Given the description of an element on the screen output the (x, y) to click on. 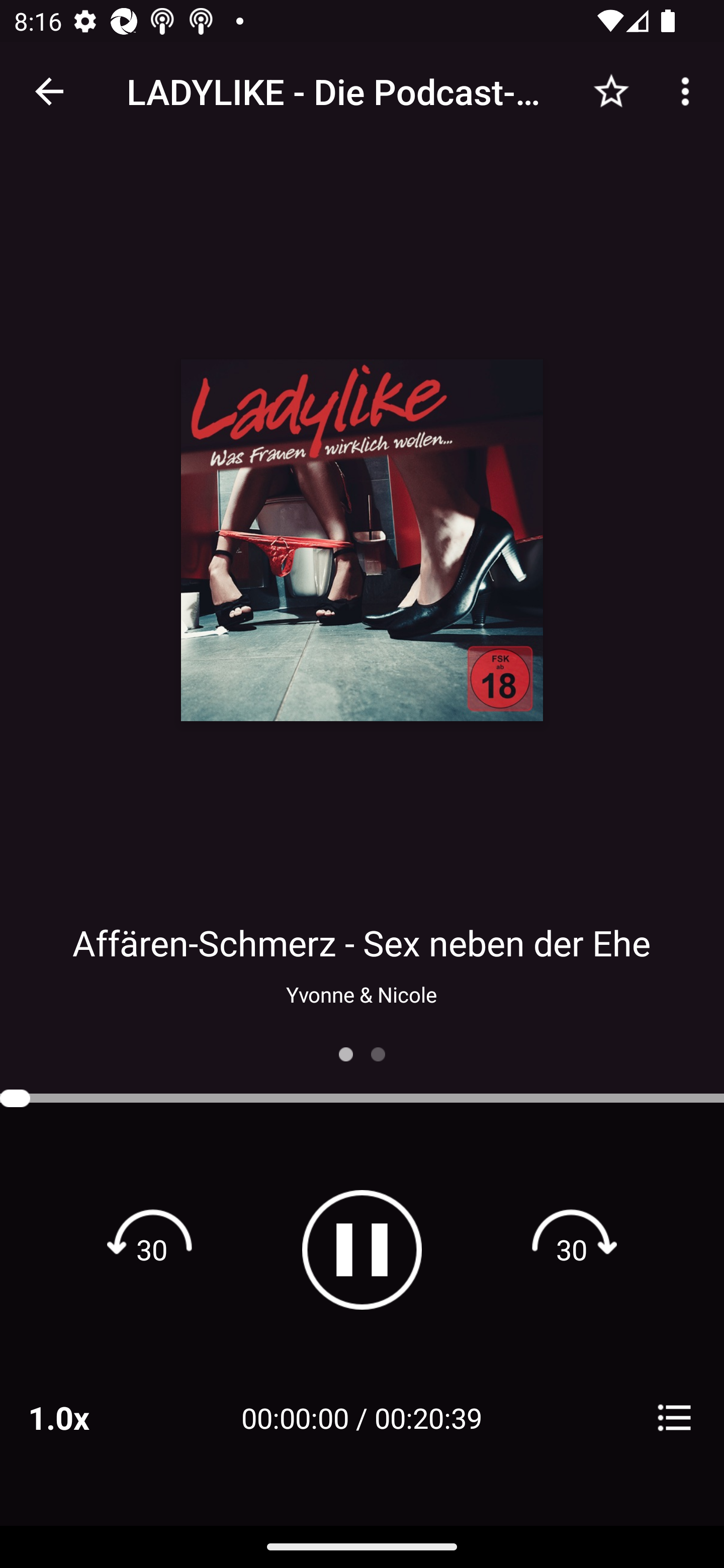
Navigate up (49, 91)
Add to Favorites (611, 90)
More options (688, 90)
Yvonne & Nicole (361, 994)
Pause (361, 1249)
Rewind (151, 1249)
Fast forward (571, 1249)
1.0x Playback Speeds (84, 1417)
00:20:39 (428, 1417)
